Given the description of an element on the screen output the (x, y) to click on. 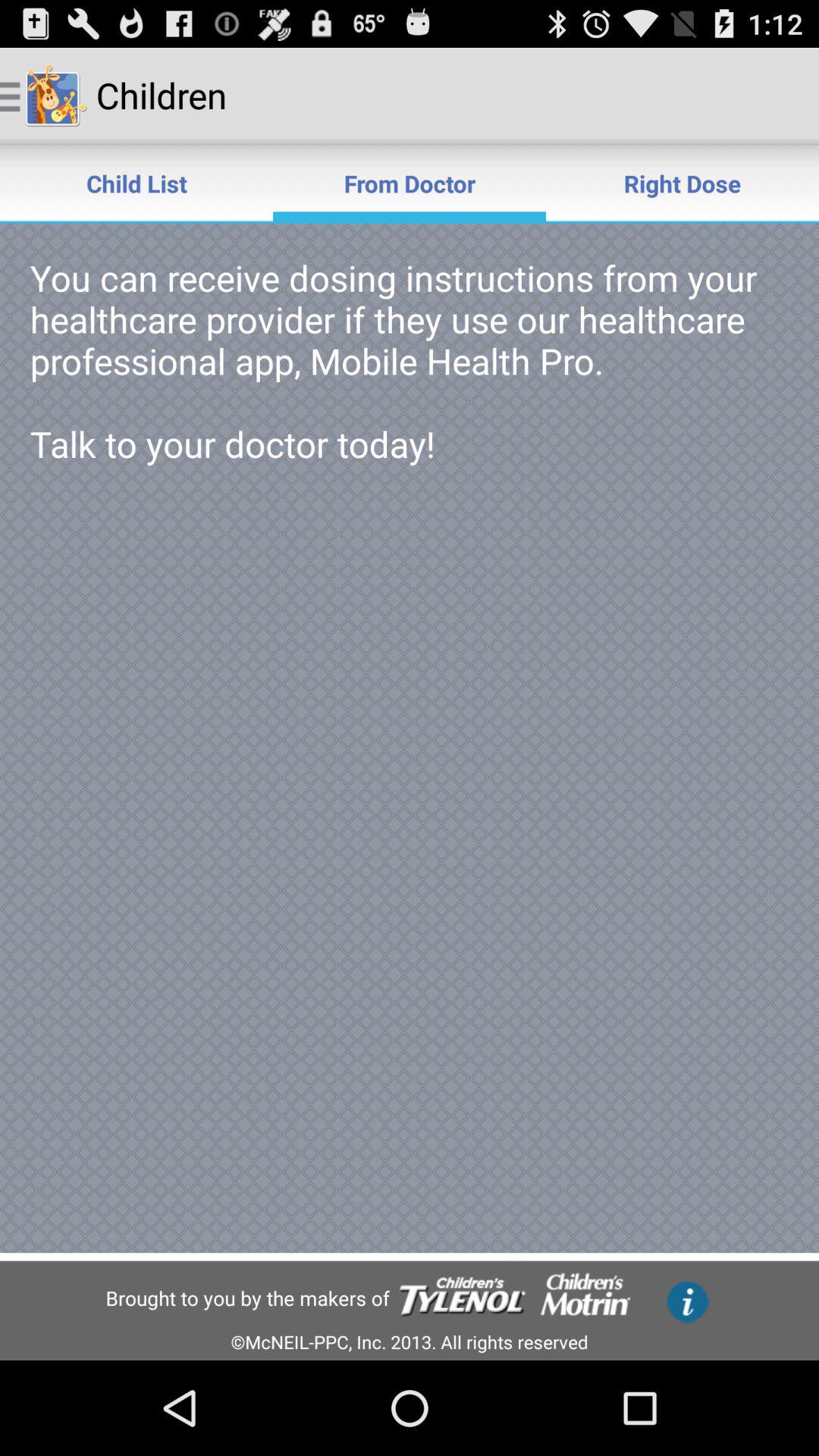
launch icon next to from doctor item (682, 183)
